Given the description of an element on the screen output the (x, y) to click on. 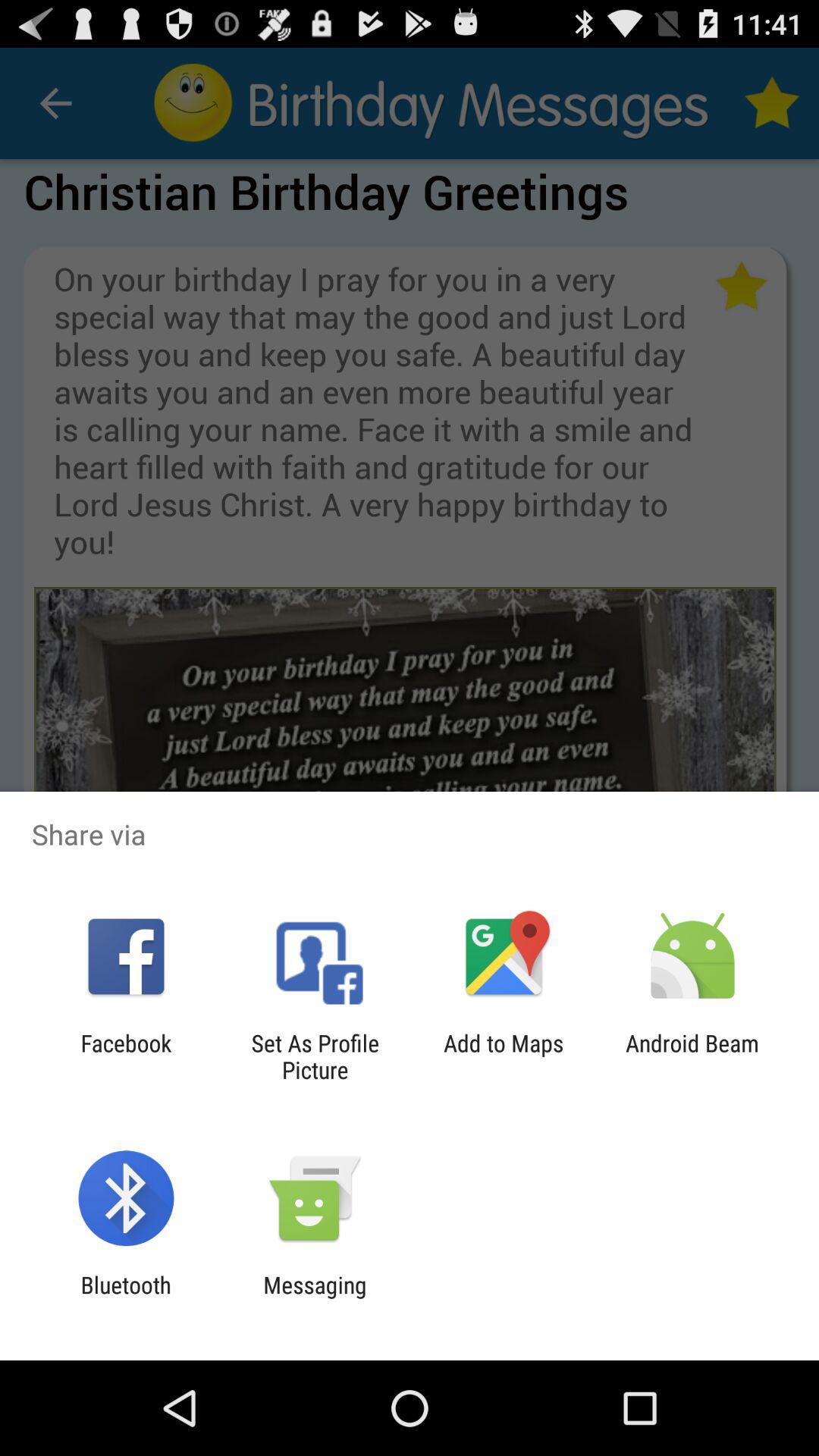
tap the icon next to add to maps app (314, 1056)
